Given the description of an element on the screen output the (x, y) to click on. 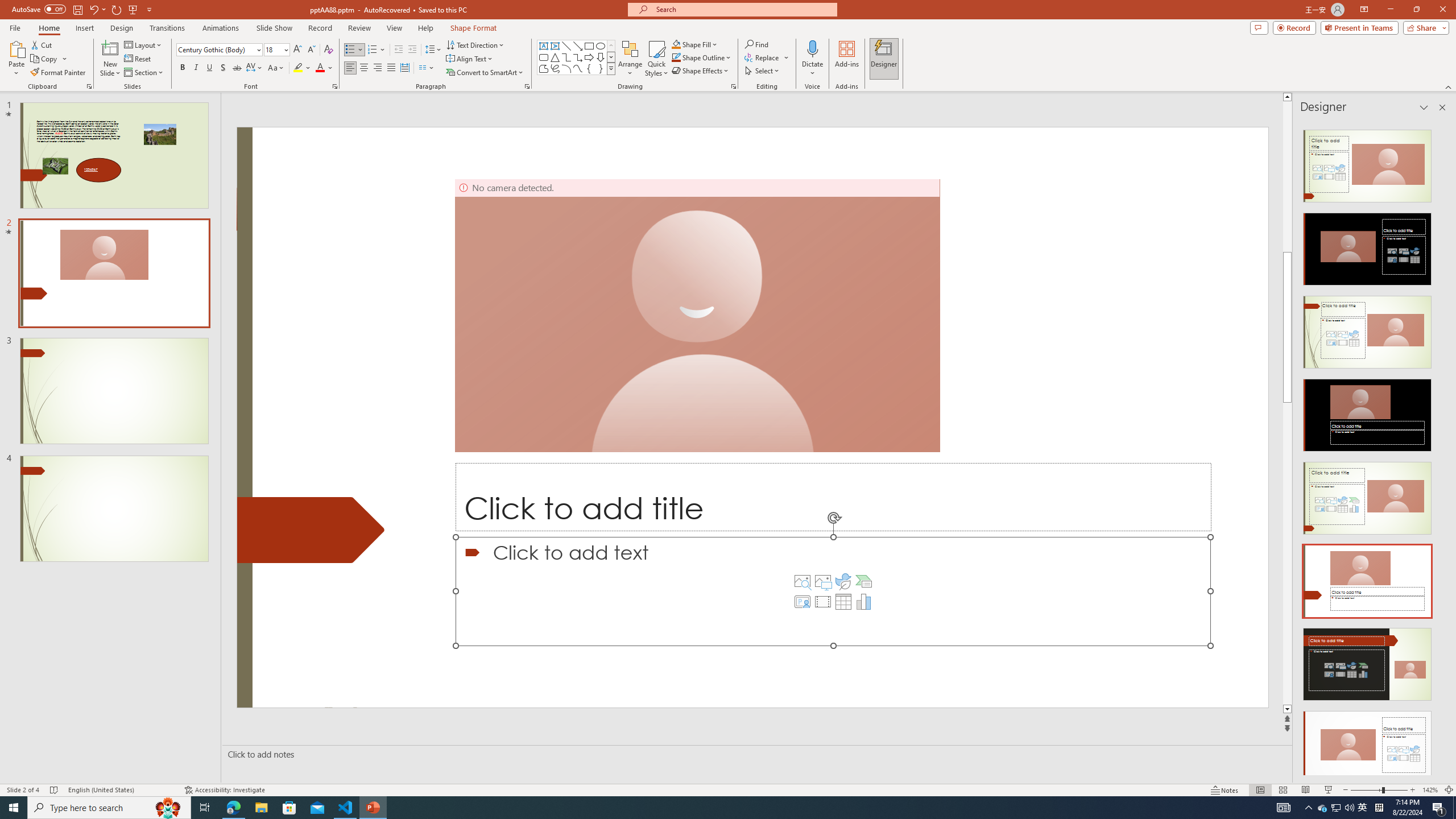
Shape Fill Aqua, Accent 2 (675, 44)
